Given the description of an element on the screen output the (x, y) to click on. 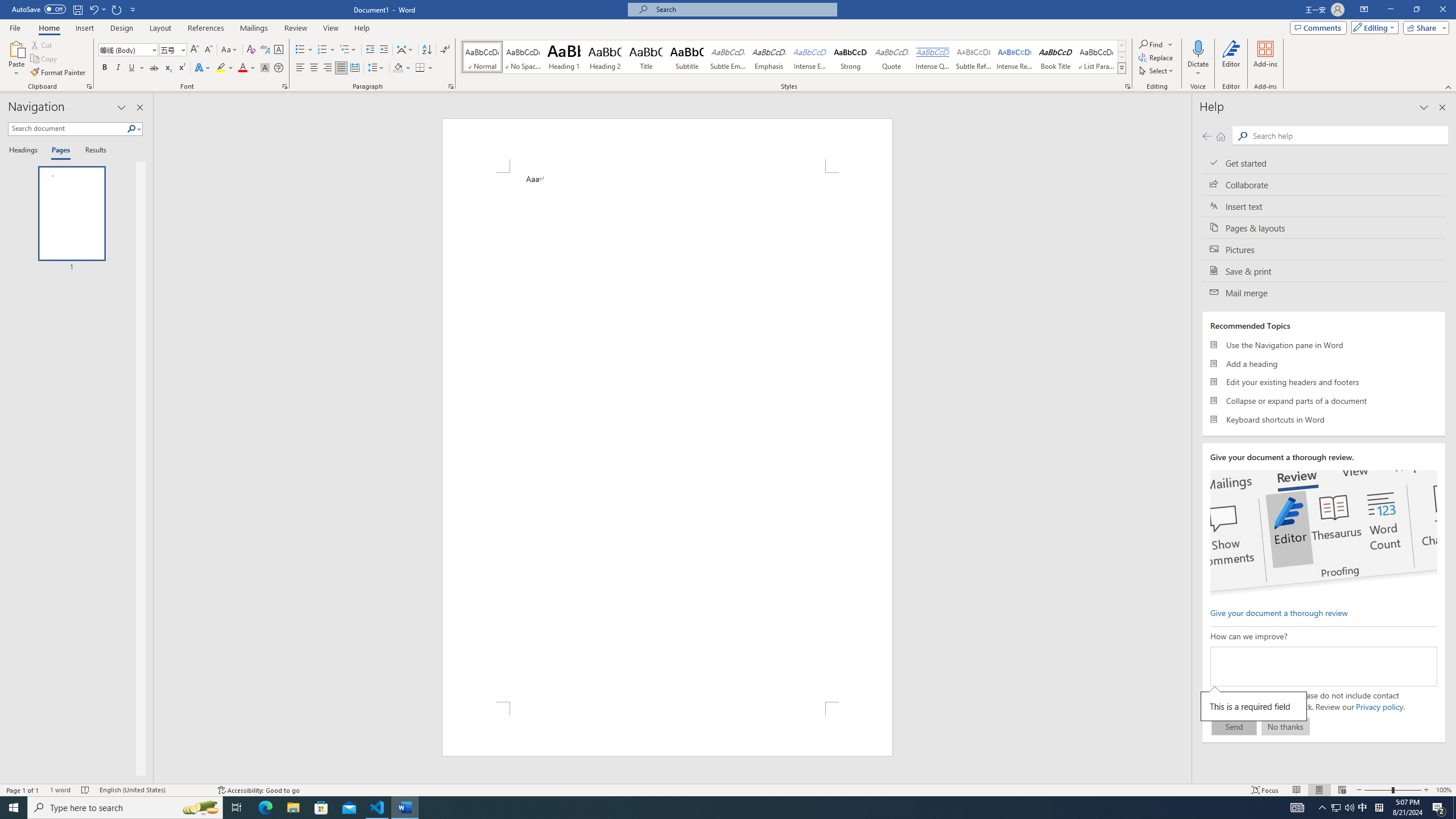
Repeat Increase Indent (117, 9)
Mail merge (1323, 292)
Intense Reference (1014, 56)
Give your document a thorough review (1278, 611)
Collapse or expand parts of a document (1323, 400)
Pictures (1323, 249)
